Given the description of an element on the screen output the (x, y) to click on. 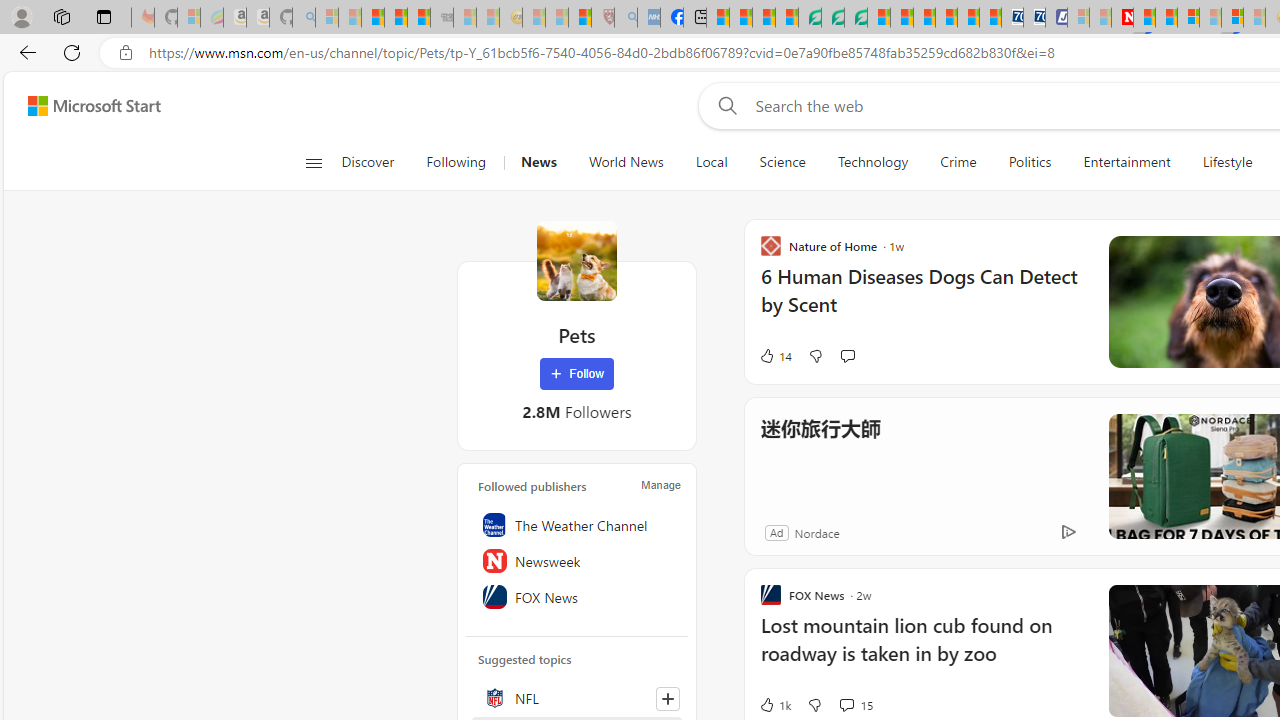
Back (24, 52)
Web search (724, 105)
Science (782, 162)
Skip to content (86, 105)
World News (625, 162)
Start the conversation (847, 355)
Dislike (813, 704)
14 Like (775, 355)
